Given the description of an element on the screen output the (x, y) to click on. 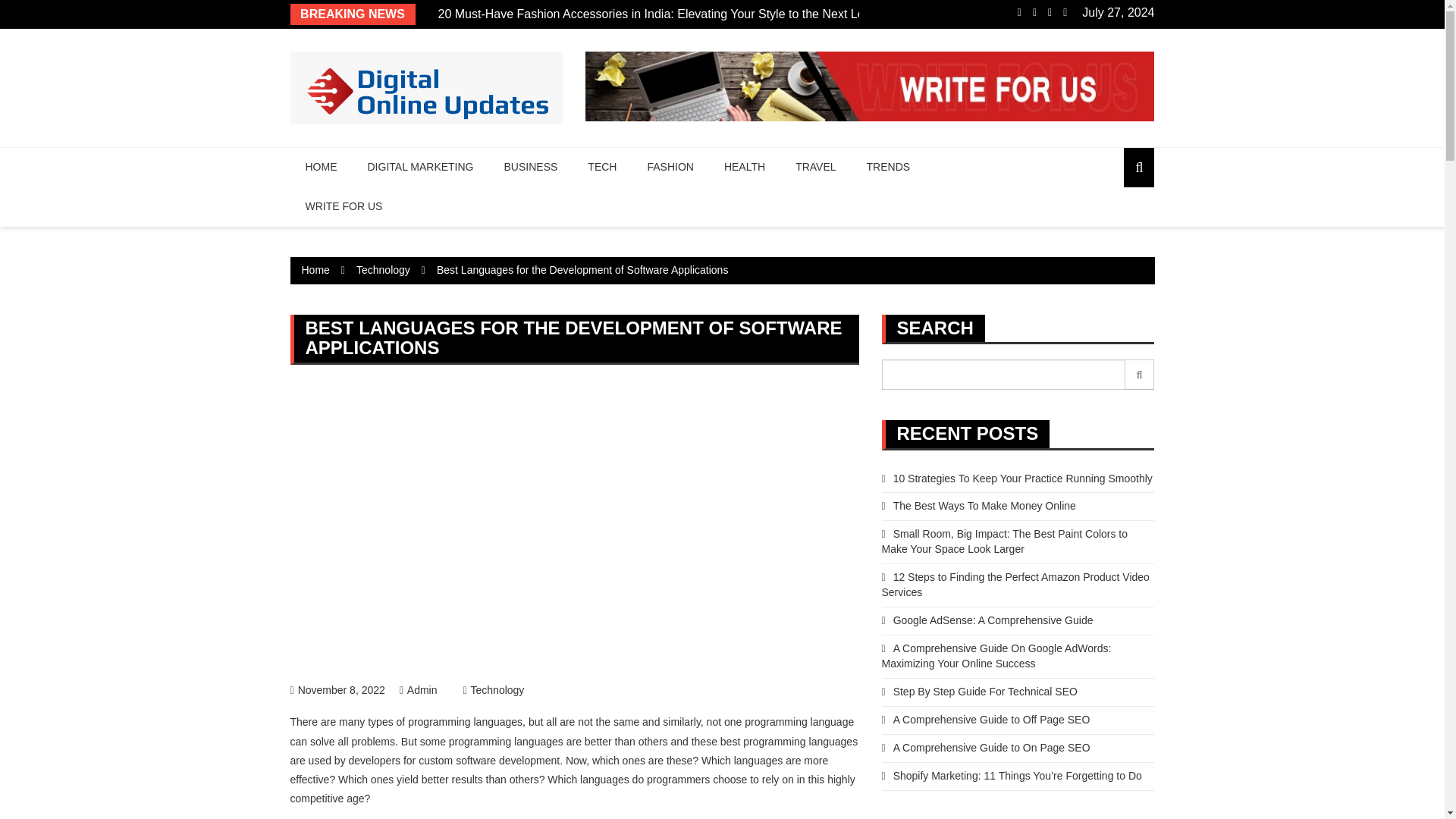
November 8, 2022 (336, 689)
TRENDS (888, 167)
Home (315, 269)
Facebook (1019, 13)
FASHION (669, 167)
HEALTH (744, 167)
HOME (320, 167)
TRAVEL (815, 167)
Technology (493, 689)
Technology (383, 269)
BUSINESS (531, 167)
DIGITAL MARKETING (419, 167)
WRITE FOR US (343, 206)
Youtube (1064, 13)
